Given the description of an element on the screen output the (x, y) to click on. 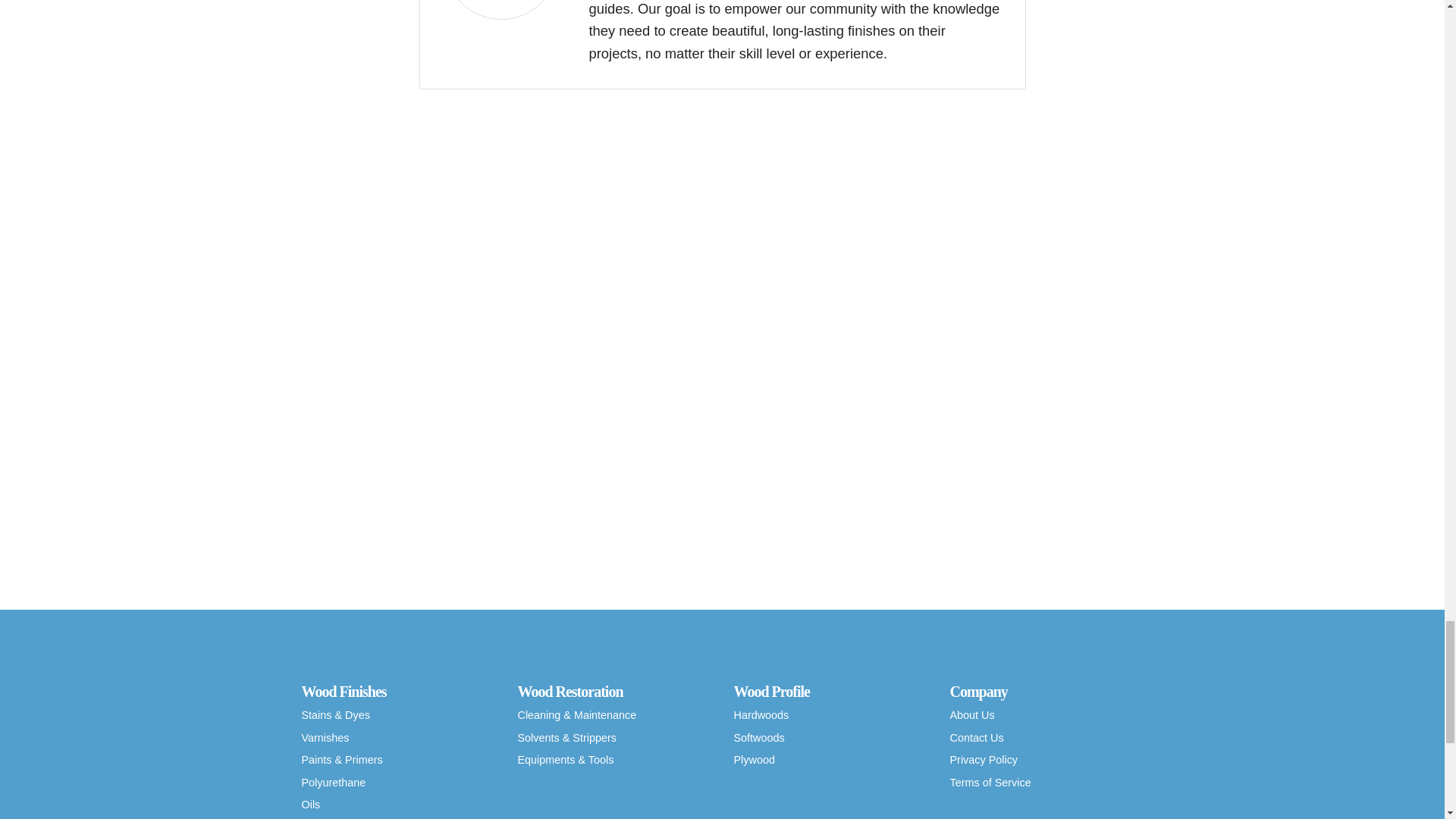
Oils (398, 805)
Contact Us (1045, 738)
Terms of Service (1045, 782)
About Us (1045, 715)
Softwoods (830, 738)
Varnishes (398, 738)
Polyurethane (398, 782)
Plywood (830, 760)
Hardwoods (830, 715)
Privacy Policy (1045, 760)
